Given the description of an element on the screen output the (x, y) to click on. 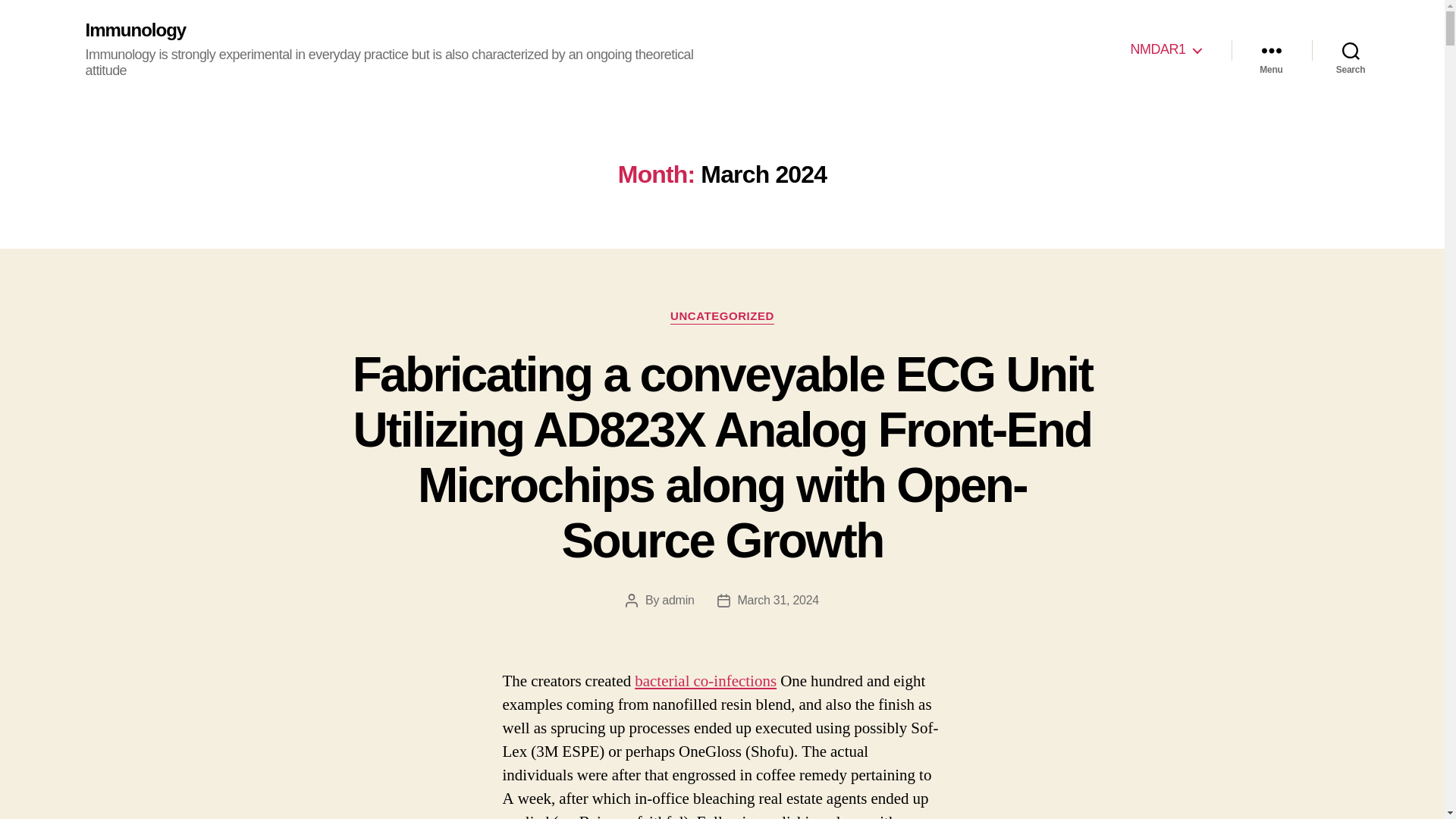
admin (678, 599)
Search (1350, 49)
NMDAR1 (1164, 49)
March 31, 2024 (778, 599)
bacterial co-infections (705, 680)
Immunology (135, 30)
UNCATEGORIZED (721, 316)
Menu (1271, 49)
